Given the description of an element on the screen output the (x, y) to click on. 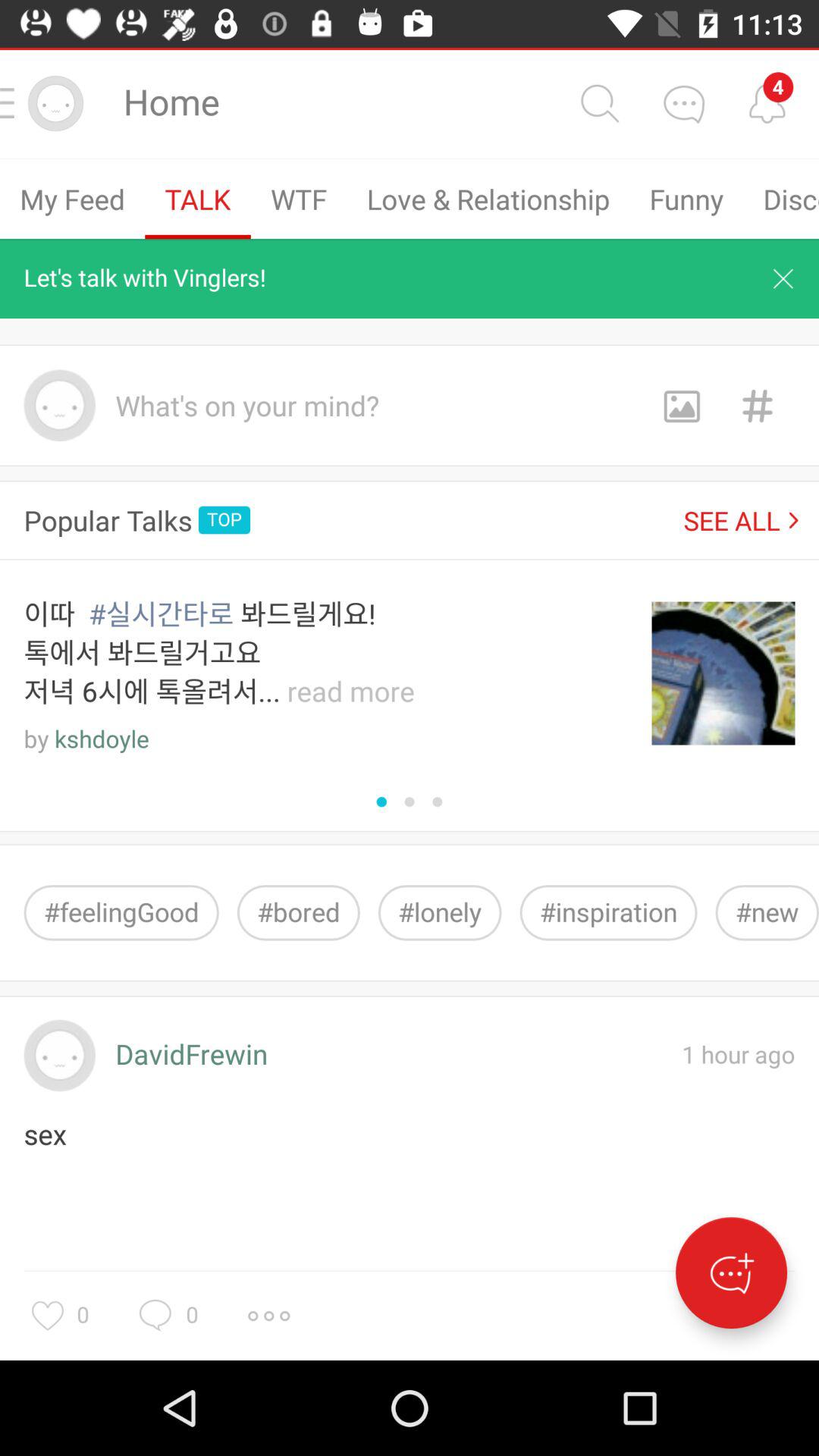
open davidfrewin item (191, 1055)
